Given the description of an element on the screen output the (x, y) to click on. 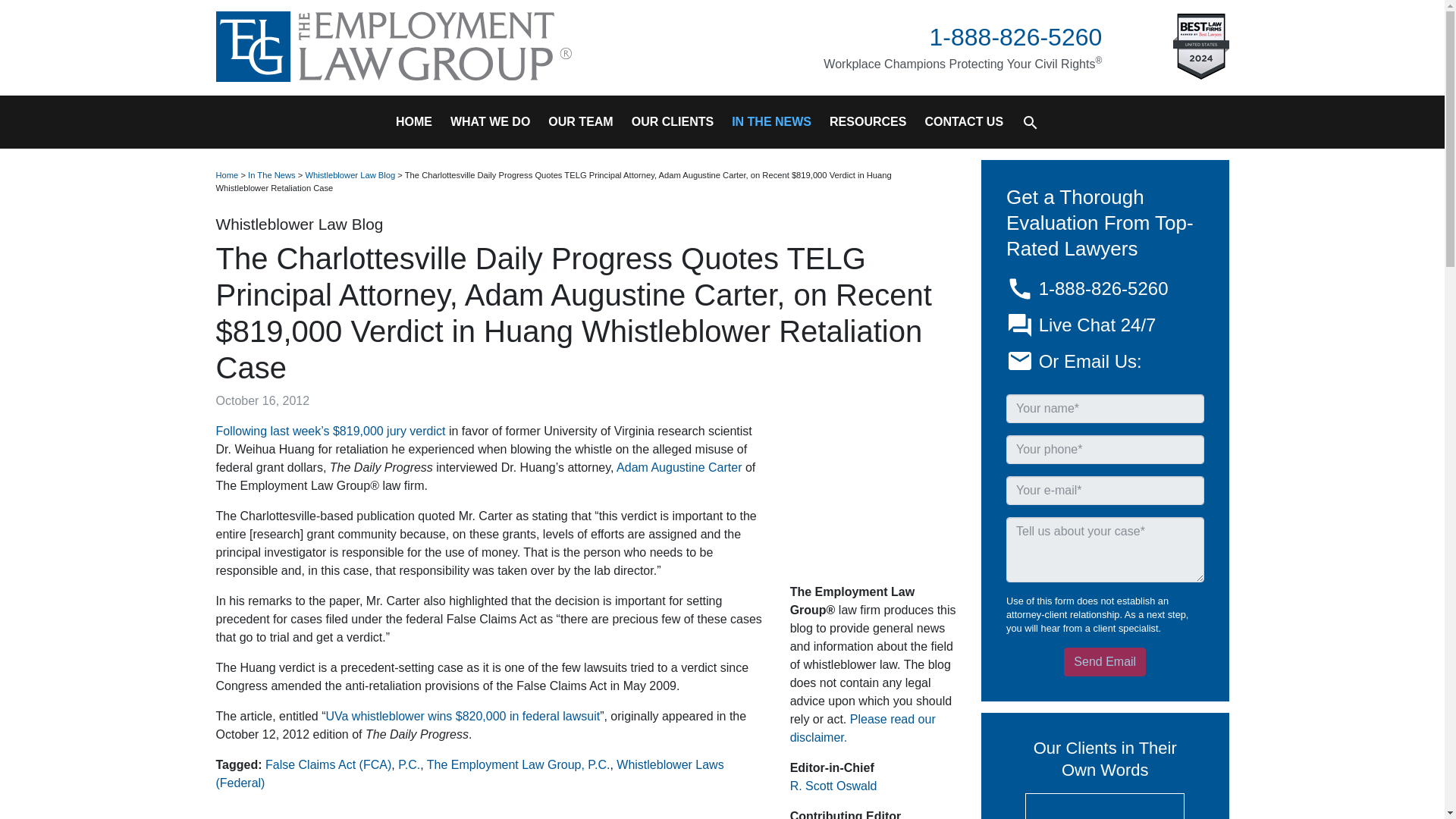
1-888-826-5260 (1016, 36)
IN THE NEWS (771, 122)
RESOURCES (868, 122)
home (418, 122)
CONTACT US (963, 122)
OUR CLIENTS (672, 122)
OUR TEAM (579, 122)
contact-us (963, 122)
HOME (418, 122)
WHAT WE DO (489, 122)
